Given the description of an element on the screen output the (x, y) to click on. 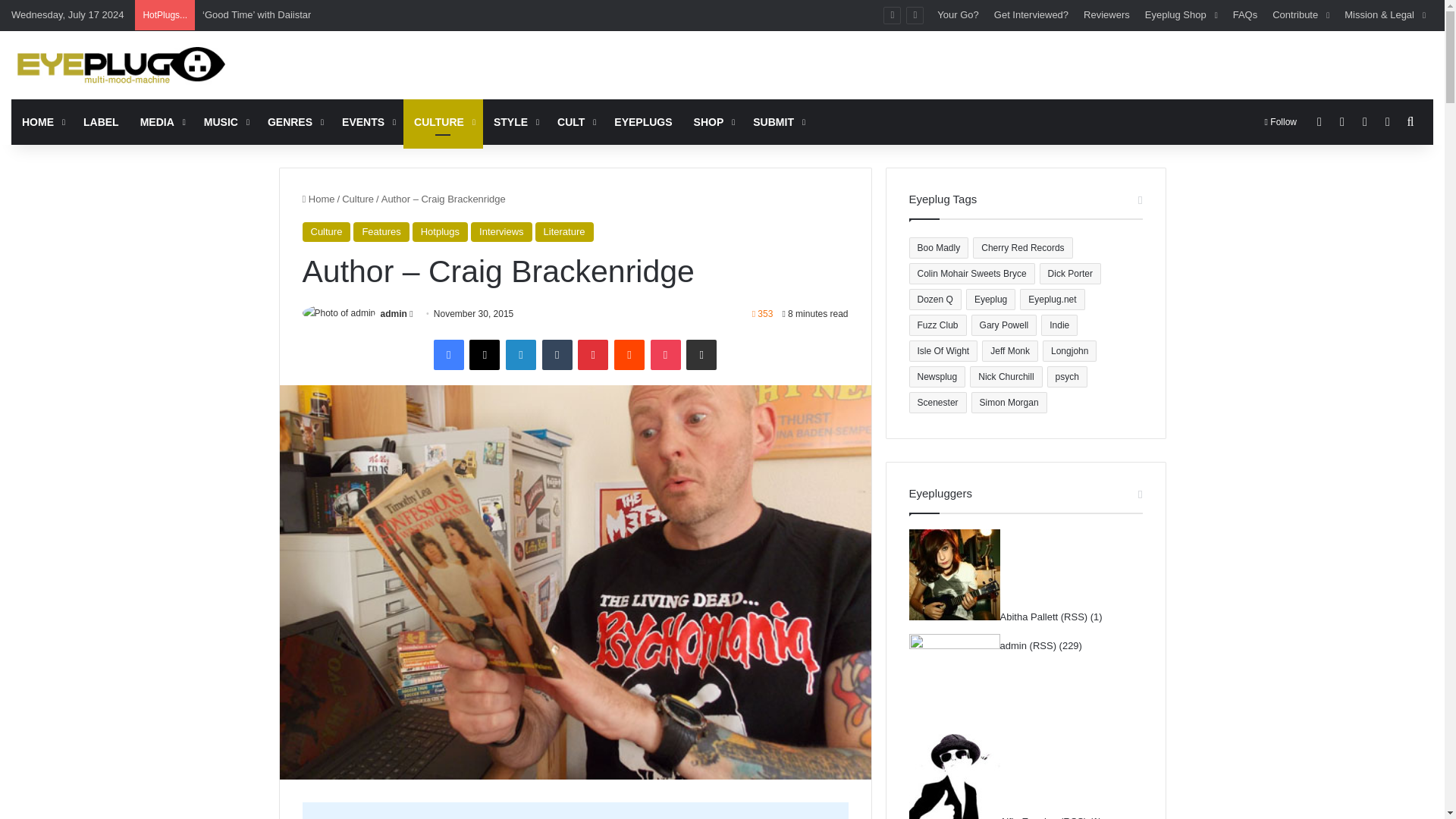
LABEL (100, 121)
Pinterest (593, 354)
X (483, 354)
Tumblr (556, 354)
Reddit (629, 354)
Get Interviewed? (1031, 15)
Share via Email (700, 354)
Contribute (1300, 15)
LinkedIn (520, 354)
Pocket (665, 354)
Reviewers (1106, 15)
FAQs (1245, 15)
admin (393, 313)
Switch skin (1387, 121)
